Given the description of an element on the screen output the (x, y) to click on. 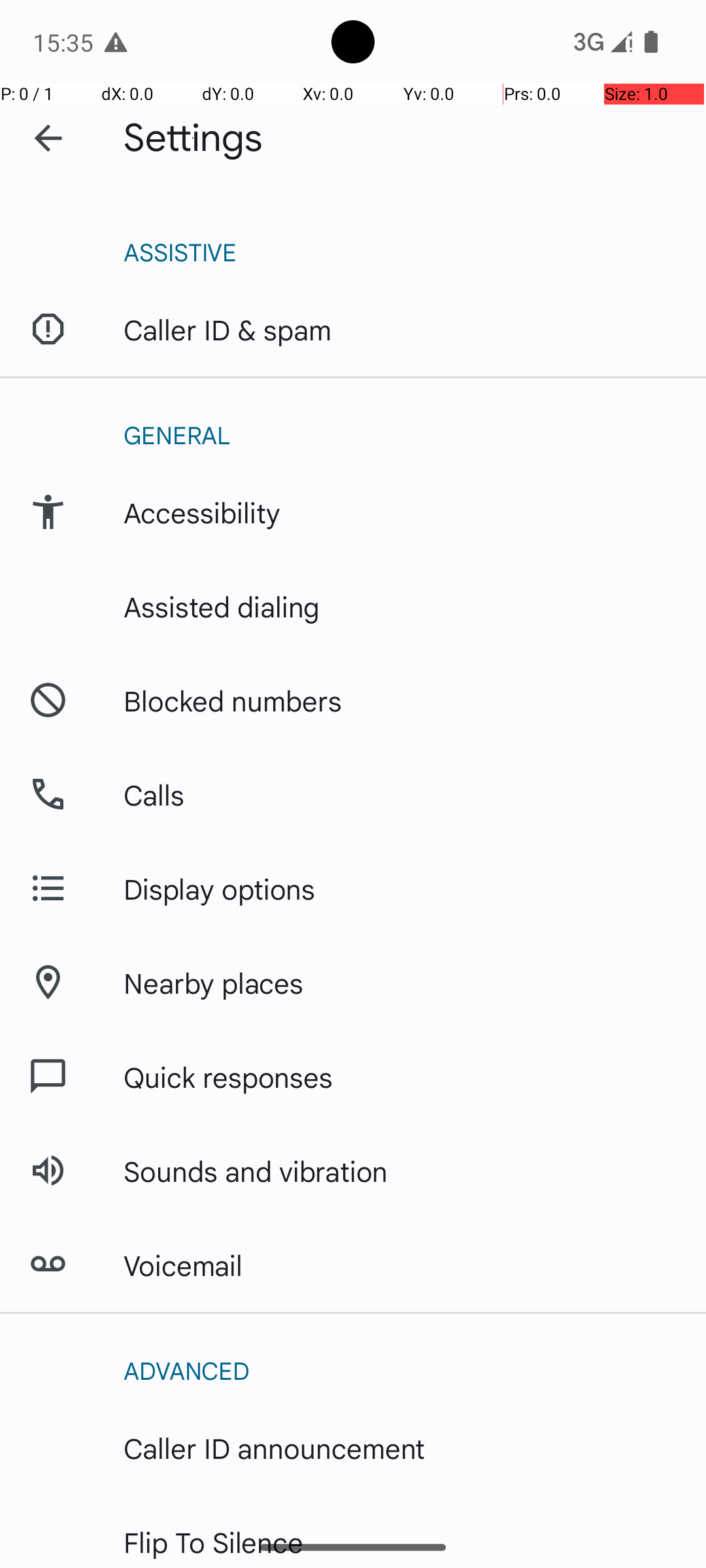
ASSISTIVE Element type: android.widget.TextView (400, 251)
Caller ID & spam Element type: android.widget.TextView (227, 328)
Accessibility Element type: android.widget.TextView (201, 511)
Assisted dialing Element type: android.widget.TextView (221, 605)
Blocked numbers Element type: android.widget.TextView (232, 699)
Calls Element type: android.widget.TextView (153, 794)
Display options Element type: android.widget.TextView (219, 888)
Nearby places Element type: android.widget.TextView (213, 982)
Quick responses Element type: android.widget.TextView (228, 1076)
Sounds and vibration Element type: android.widget.TextView (255, 1170)
Voicemail Element type: android.widget.TextView (183, 1264)
ADVANCED Element type: android.widget.TextView (400, 1370)
Caller ID announcement Element type: android.widget.TextView (274, 1447)
Flip To Silence Element type: android.widget.TextView (213, 1541)
